Given the description of an element on the screen output the (x, y) to click on. 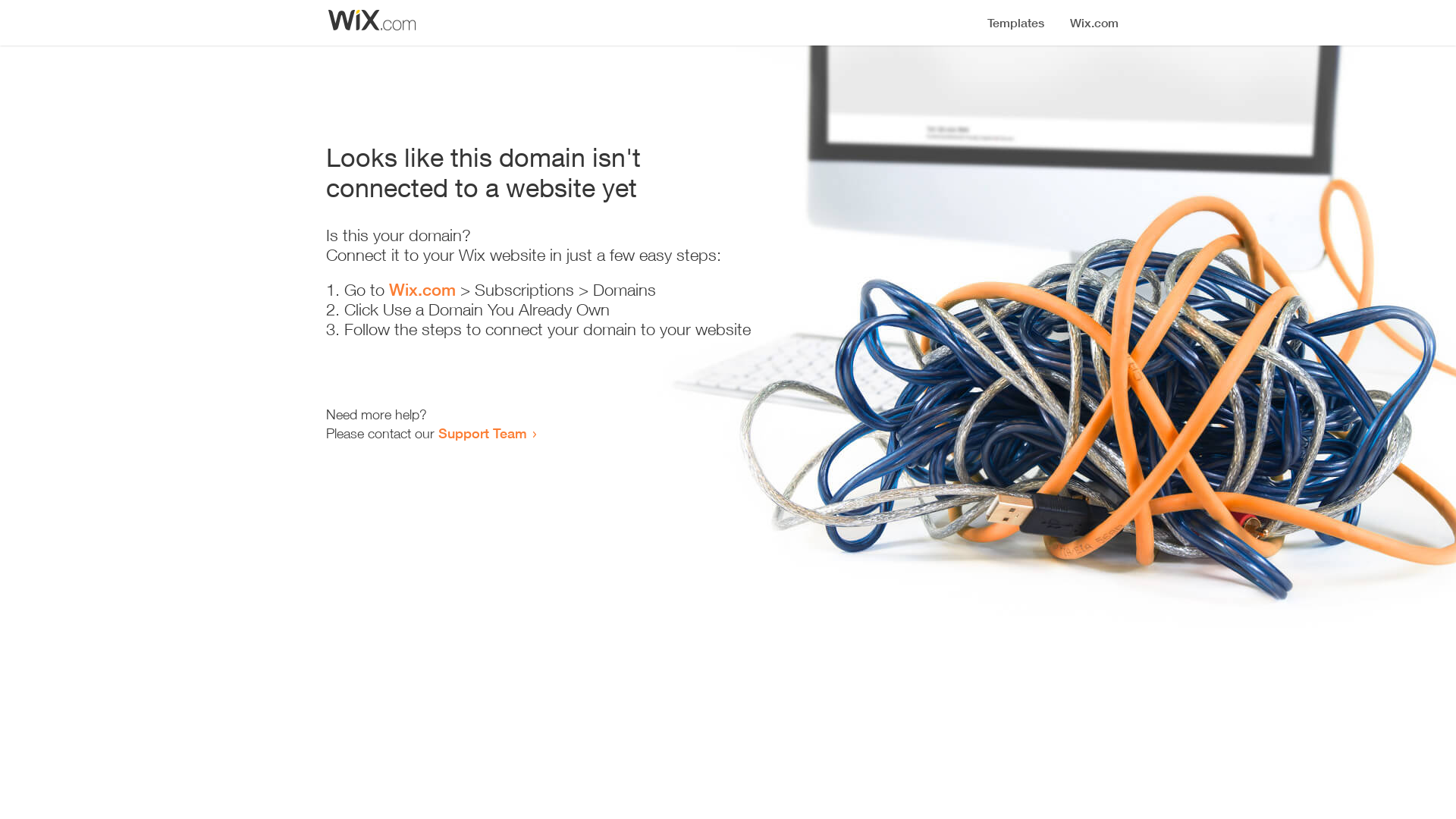
Support Team Element type: text (482, 432)
Wix.com Element type: text (422, 289)
